Given the description of an element on the screen output the (x, y) to click on. 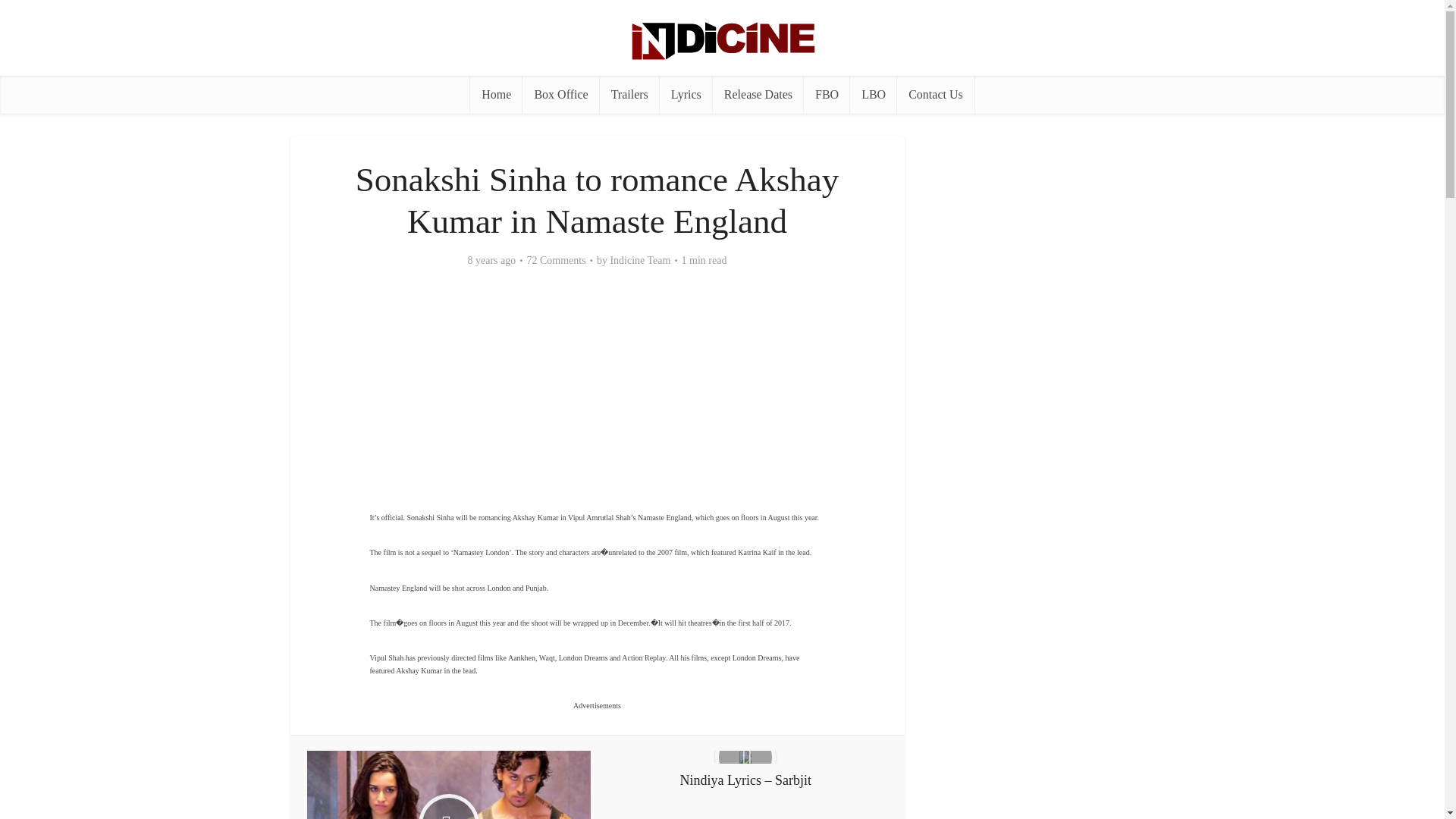
Advertisement (596, 382)
Indicine Team (639, 260)
Lyrics (686, 94)
Box Office (560, 94)
LBO (873, 94)
Home (496, 94)
Baaghi Reviews by Critics (449, 785)
Trailers (629, 94)
Release Dates (758, 94)
Contact Us (935, 94)
FBO (826, 94)
72 Comments (555, 260)
